Given the description of an element on the screen output the (x, y) to click on. 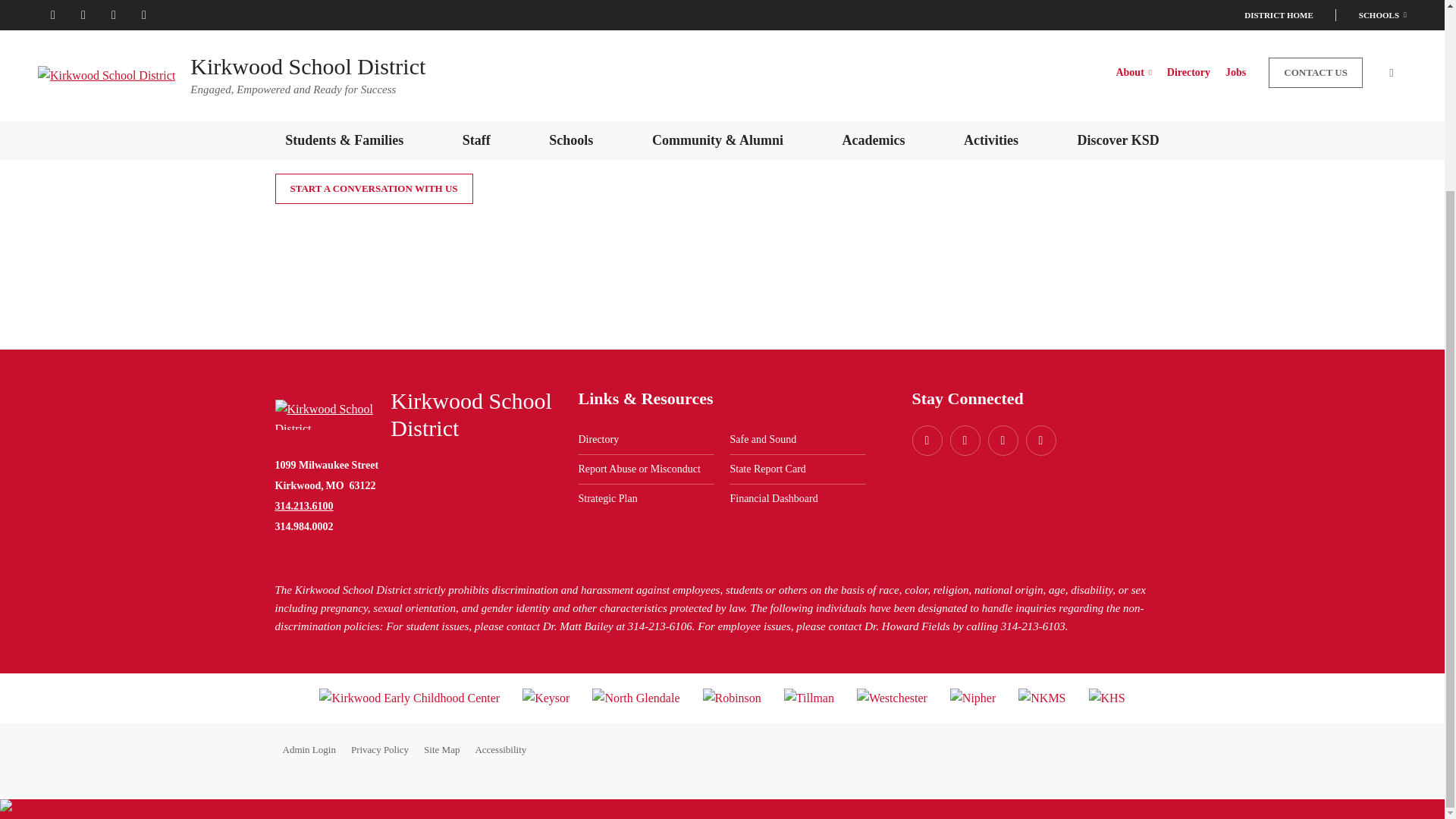
Powered by Finalsite opens in a new window (1118, 750)
